Given the description of an element on the screen output the (x, y) to click on. 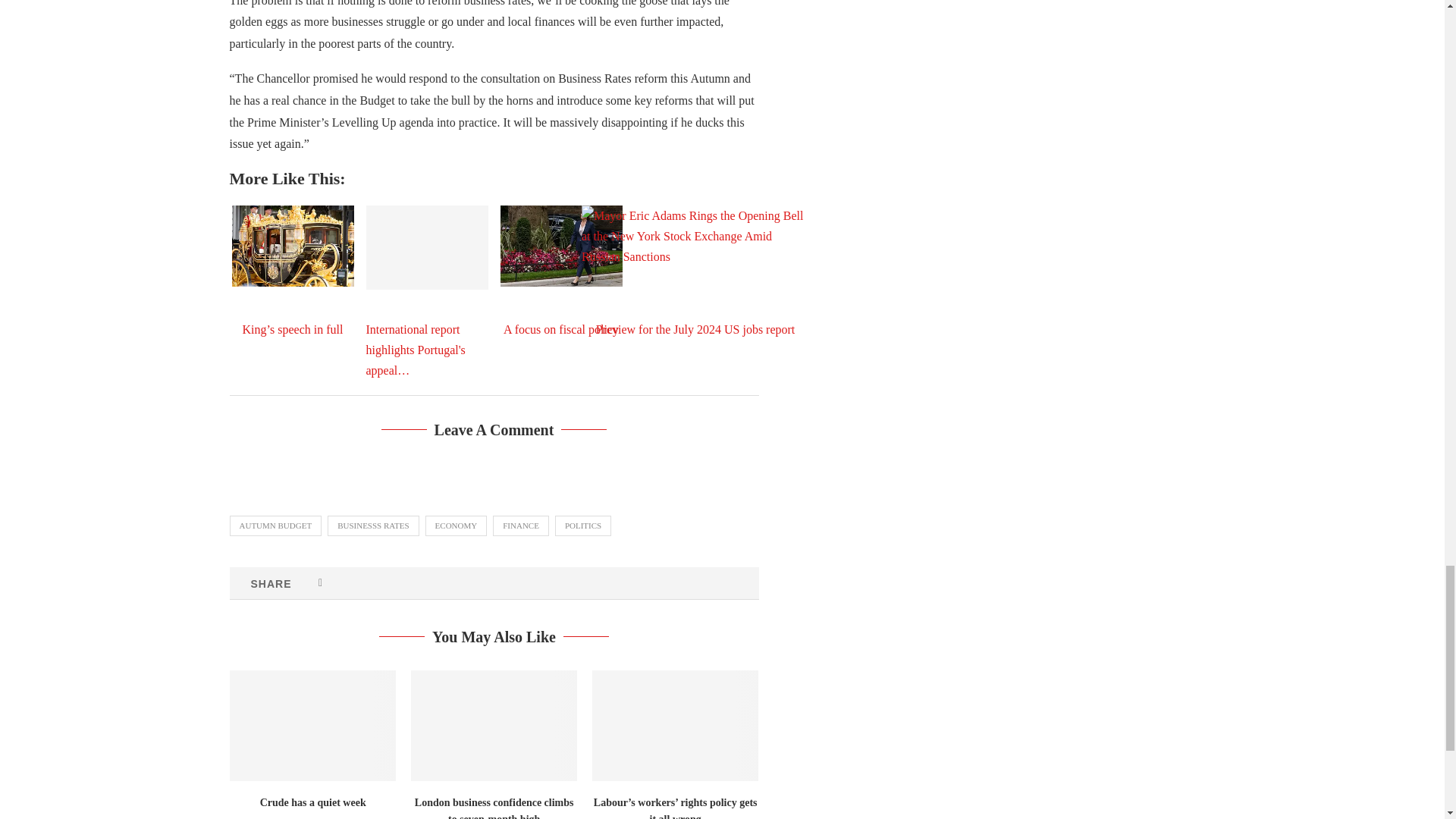
Preview for the July 2024 US jobs report (694, 281)
A focus on fiscal policy (561, 245)
London business confidence climbs to seven-month high (493, 725)
Crude has a quiet week (311, 725)
